Given the description of an element on the screen output the (x, y) to click on. 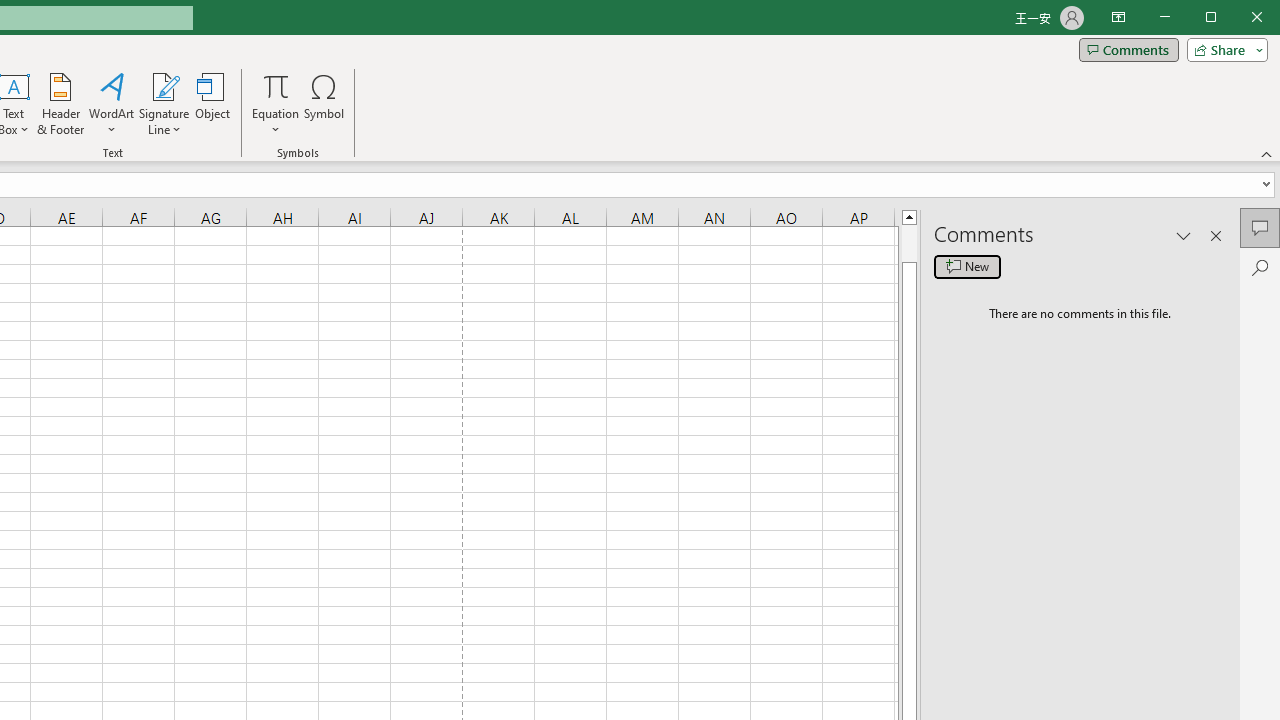
Maximize (1239, 18)
Equation (275, 104)
Search (1260, 267)
Header & Footer... (60, 104)
Symbol... (324, 104)
Page up (909, 243)
